Given the description of an element on the screen output the (x, y) to click on. 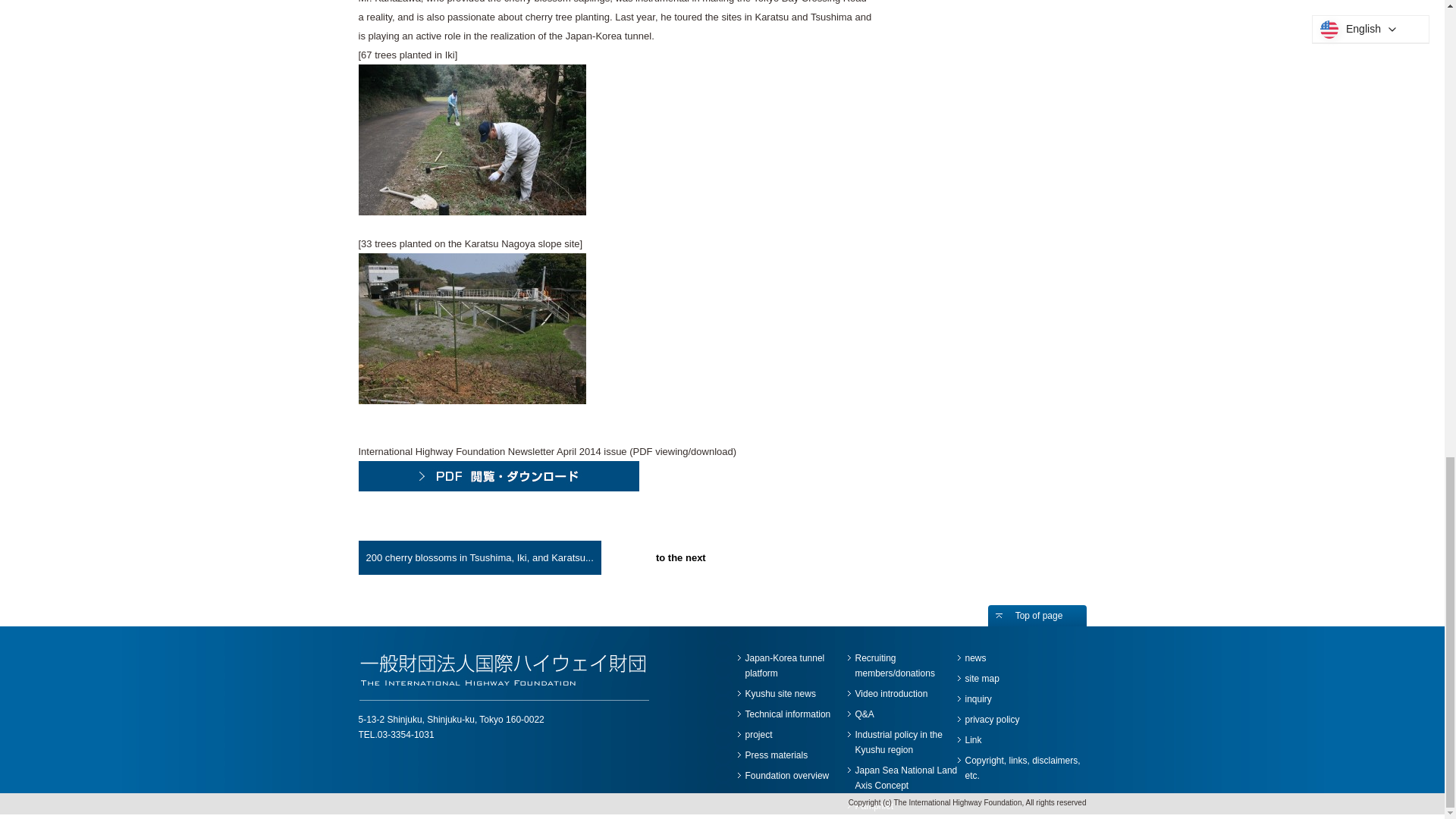
Top of page (1036, 615)
Japan-Korea tunnel platform (784, 665)
to the next (680, 557)
International Highway Foundation Newsletter April 2014 issue (498, 487)
